Given the description of an element on the screen output the (x, y) to click on. 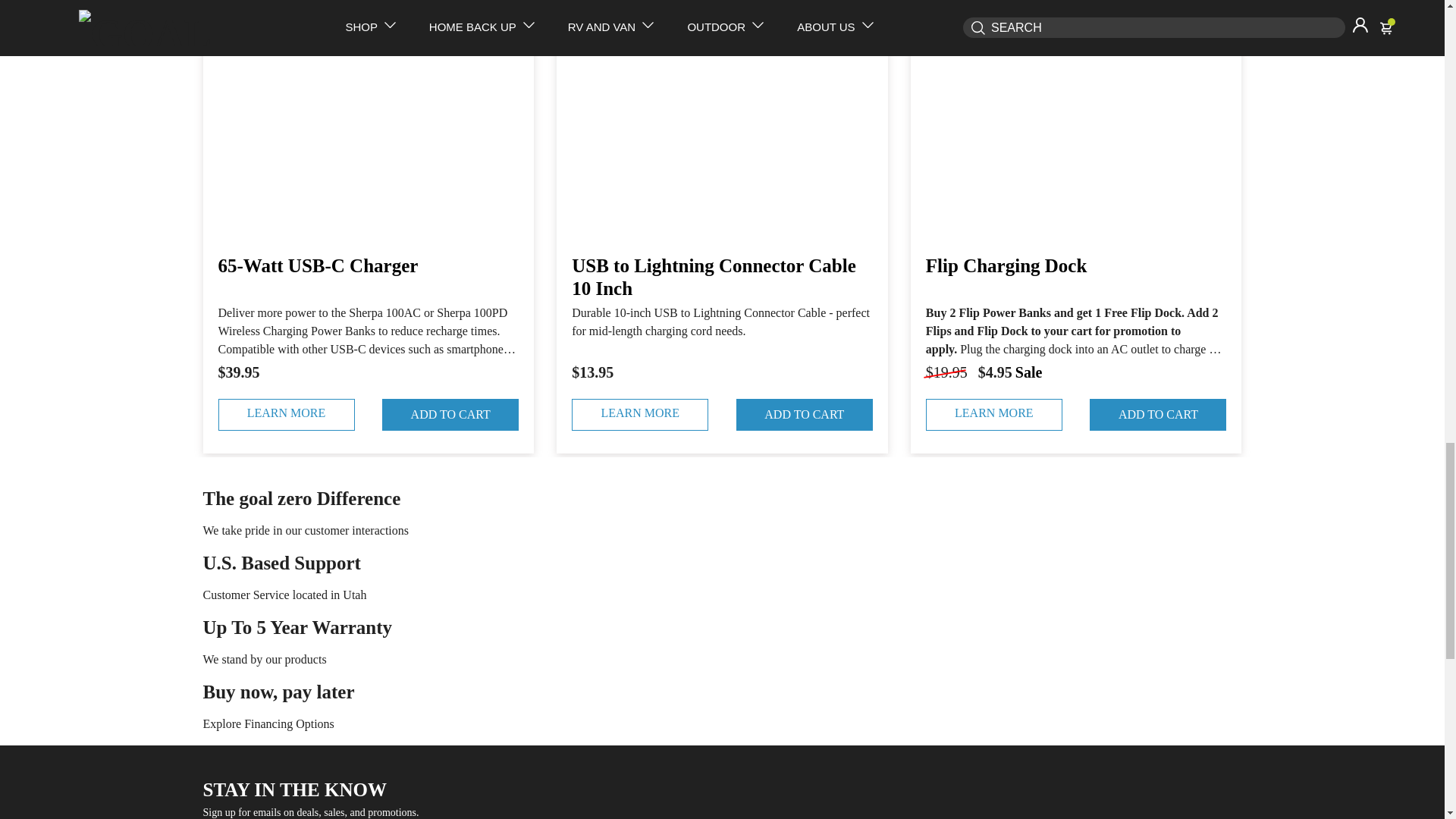
Add to Cart (449, 414)
Add to Cart (1157, 414)
Add to Cart (804, 414)
